Given the description of an element on the screen output the (x, y) to click on. 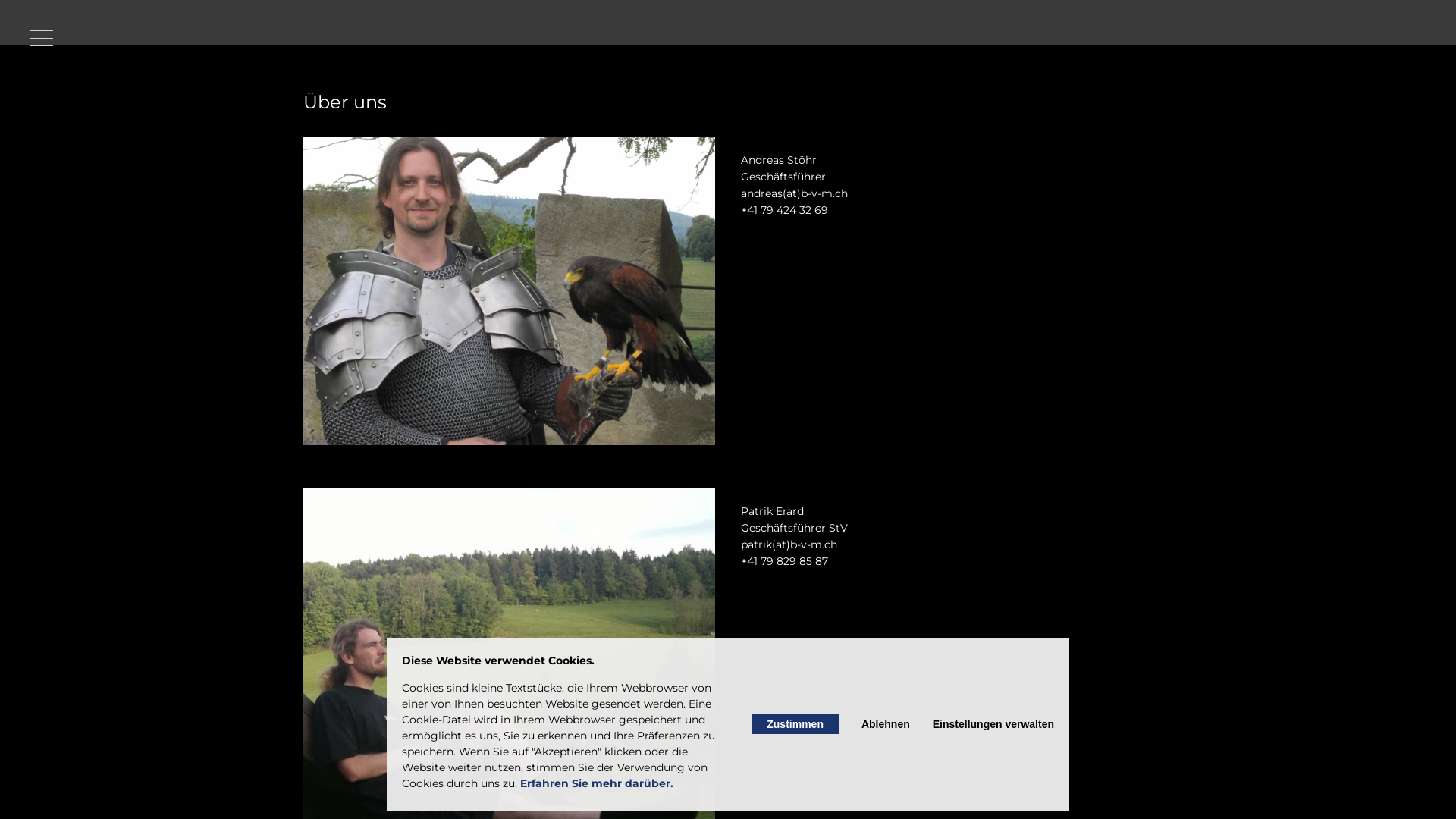
Ablehnen Element type: text (885, 724)
Einstellungen verwalten Element type: text (993, 724)
Zustimmen Element type: text (794, 724)
